Given the description of an element on the screen output the (x, y) to click on. 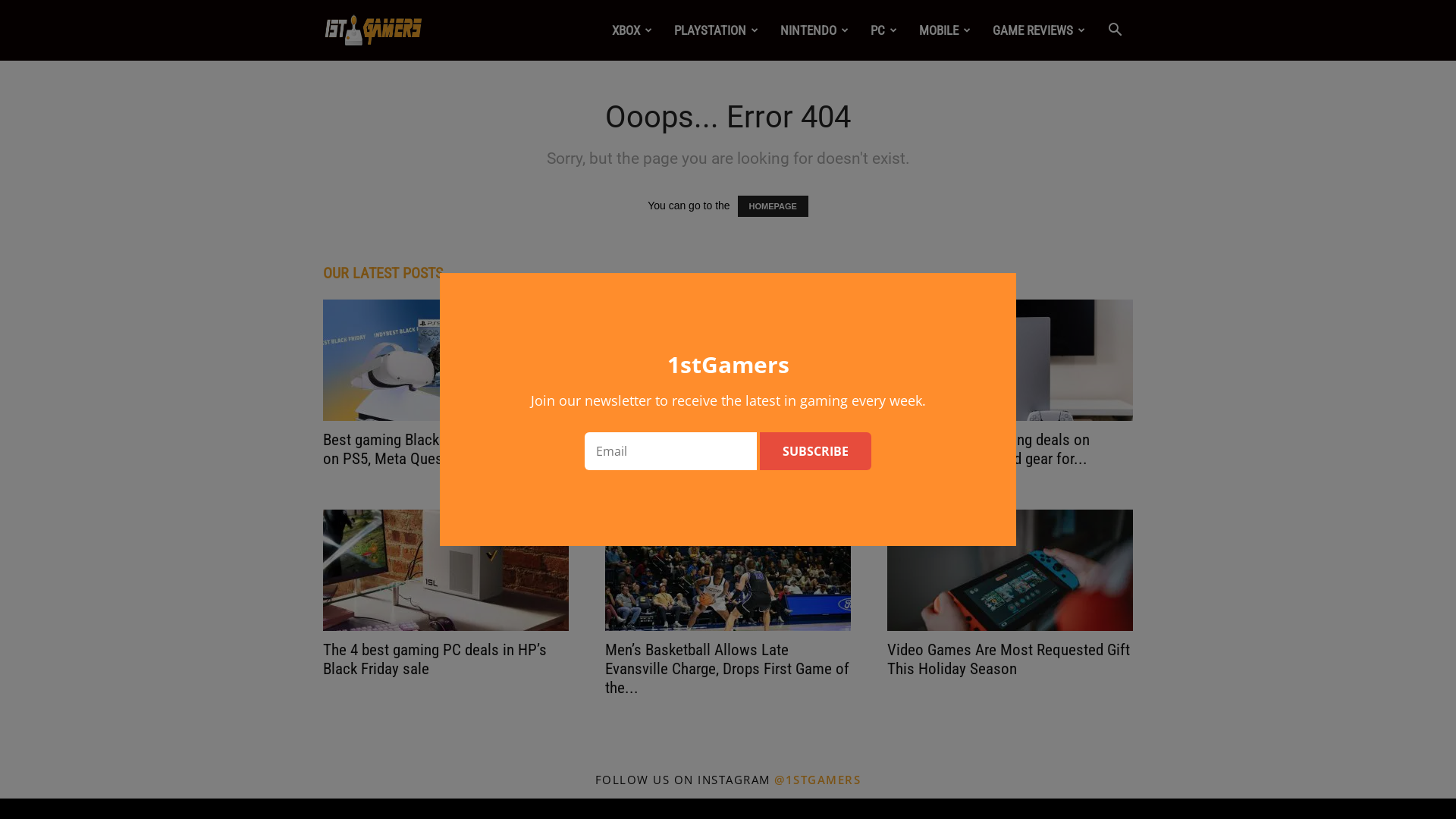
MOBILE Element type: text (945, 30)
1st Gamers Element type: text (373, 30)
XBOX Element type: text (632, 30)
Search Element type: text (1090, 103)
HOMEPAGE Element type: text (772, 205)
PLAYSTATION Element type: text (716, 30)
@1STGAMERS Element type: text (817, 779)
NINTENDO Element type: text (814, 30)
GAME REVIEWS Element type: text (1039, 30)
Video Games Are Most Requested Gift This Holiday Season Element type: hover (1009, 569)
PC Element type: text (883, 30)
Video Games Are Most Requested Gift This Holiday Season Element type: text (1008, 658)
